Given the description of an element on the screen output the (x, y) to click on. 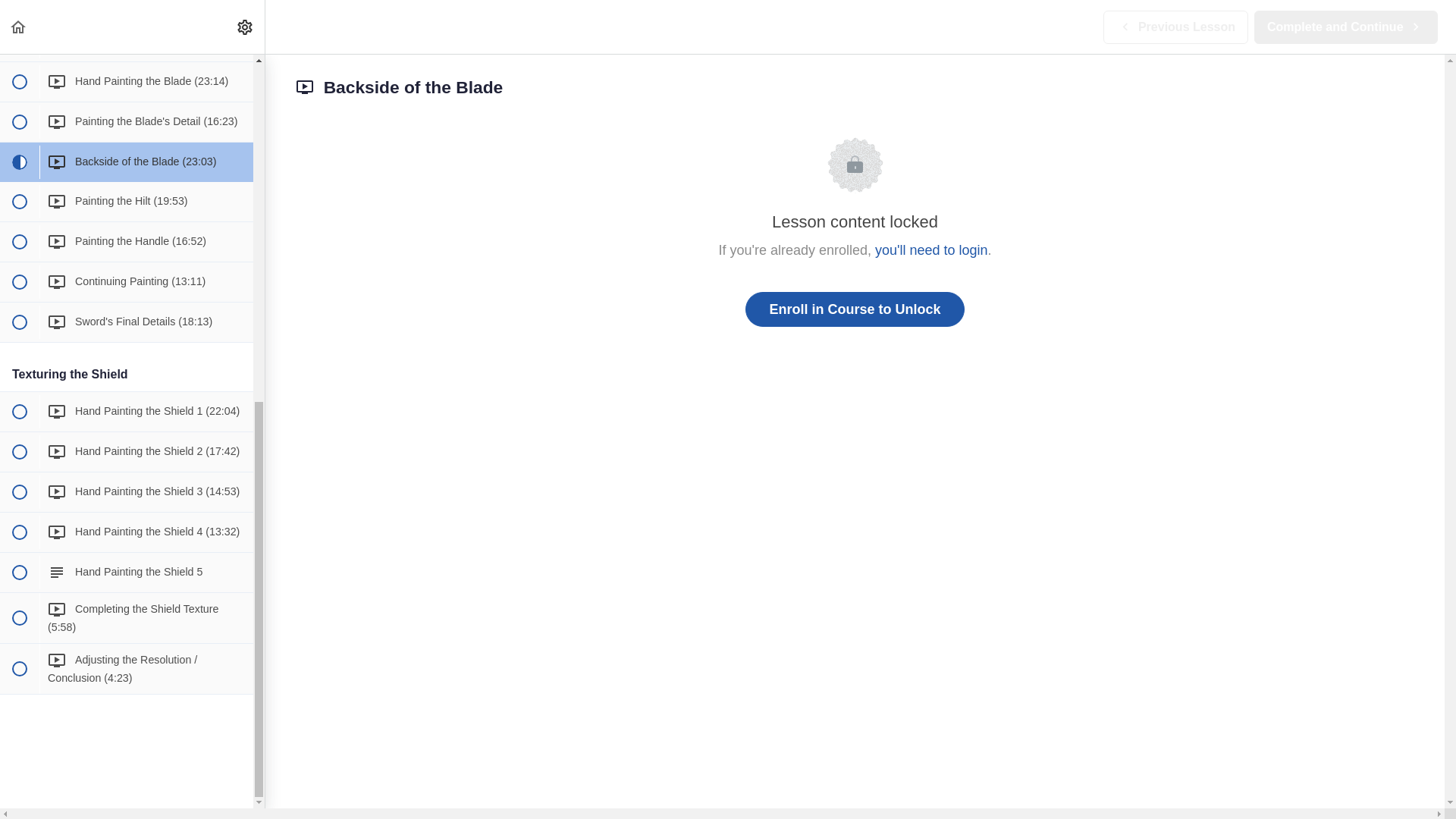
you'll need to login Element type: text (931, 249)
Complete and Continue
  Element type: text (1345, 26)
  Painting the Handle (16:52) Element type: text (126, 241)
  Painting the Hilt (19:53) Element type: text (126, 201)
  Hand Painting the Blade (23:14) Element type: text (126, 81)
  Hand Painting the Shield 3 (14:53) Element type: text (126, 491)
  Hand Painting the Shield 4 (13:32) Element type: text (126, 532)
  Hand Painting the Shield 5 Element type: text (126, 572)
  Continuing Painting (13:11) Element type: text (126, 281)
Back to course curriculum Element type: hover (18, 27)
  Backside of the Blade (23:03) Element type: text (126, 162)
  Painting the Blade's Detail (16:23) Element type: text (126, 121)
Settings Menu Element type: hover (244, 27)
  Hand Painting the Shield 2 (17:42) Element type: text (126, 451)
  Adjusting the Resolution / Conclusion (4:23) Element type: text (126, 668)
  Preparing for Painting (9:36) Element type: text (126, 41)
  Completing the Shield Texture (5:58) Element type: text (126, 618)
Enroll in Course to Unlock Element type: text (854, 308)
  Hand Painting the Shield 1 (22:04) Element type: text (126, 411)
  Previous Lesson Element type: text (1175, 26)
  Sword's Final Details (18:13) Element type: text (126, 322)
